Given the description of an element on the screen output the (x, y) to click on. 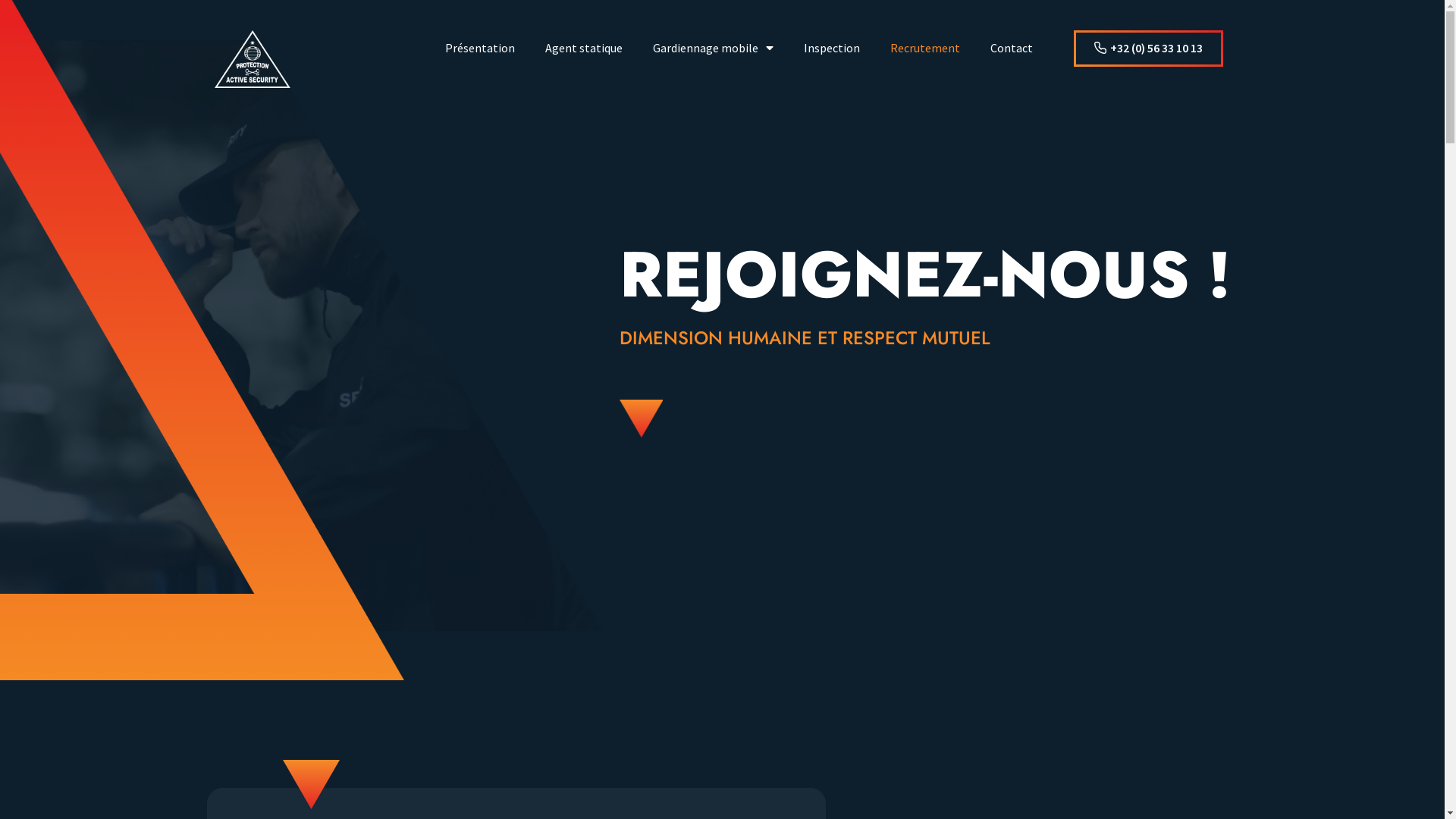
Contact Element type: text (1011, 47)
Agent statique Element type: text (583, 47)
Recrutement Element type: text (925, 47)
Polygone 3 Element type: hover (640, 418)
Inspection Element type: text (831, 47)
Gardiennage mobile Element type: text (712, 47)
+32 (0) 56 33 10 13 Element type: text (1148, 48)
